Given the description of an element on the screen output the (x, y) to click on. 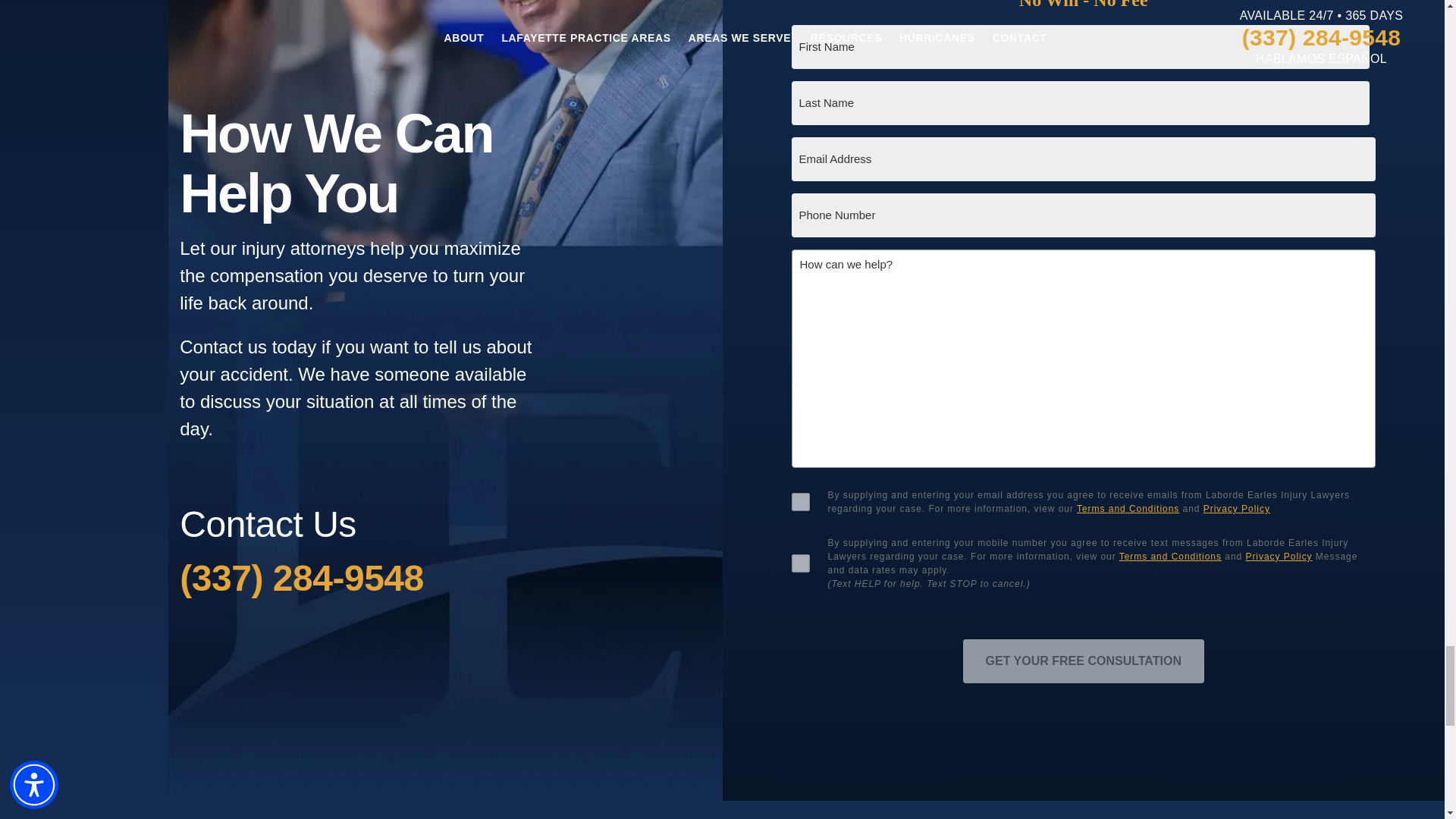
GET YOUR FREE CONSULTATION (1083, 661)
